Given the description of an element on the screen output the (x, y) to click on. 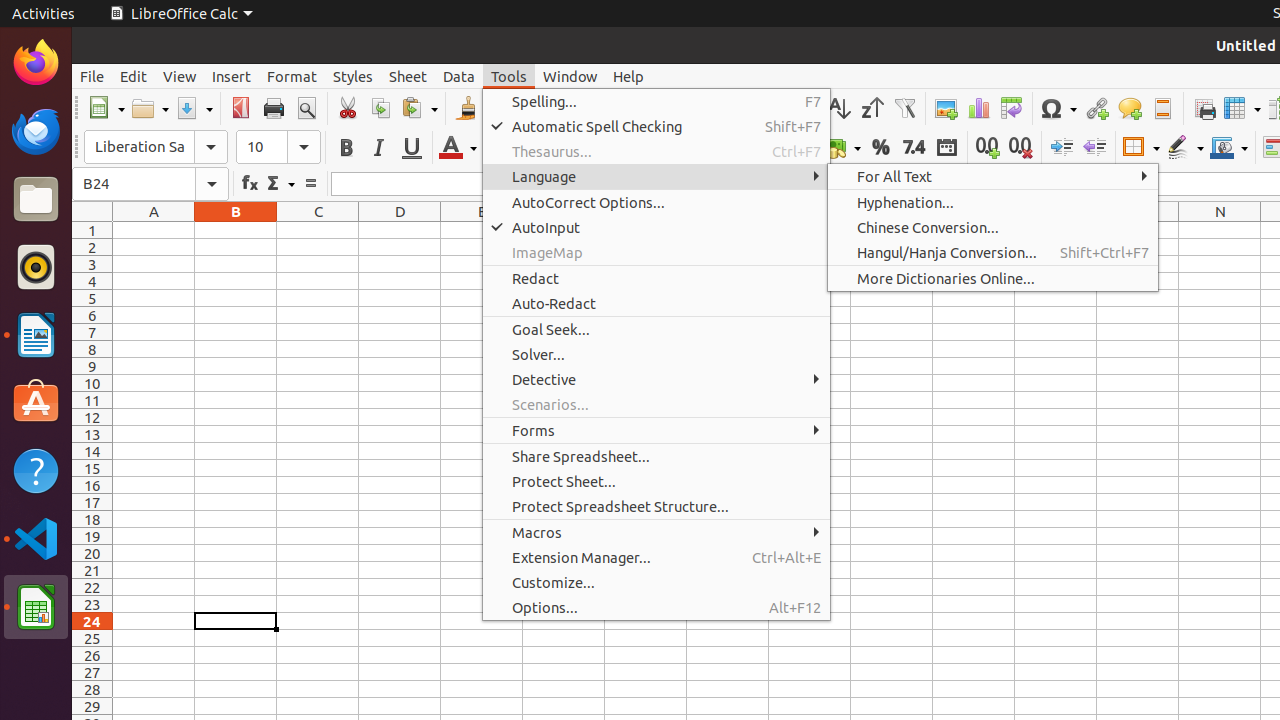
LibreOffice Calc Element type: menu (181, 13)
File Element type: menu (92, 76)
ImageMap Element type: menu-item (656, 252)
Print Area Element type: push-button (1203, 108)
